Given the description of an element on the screen output the (x, y) to click on. 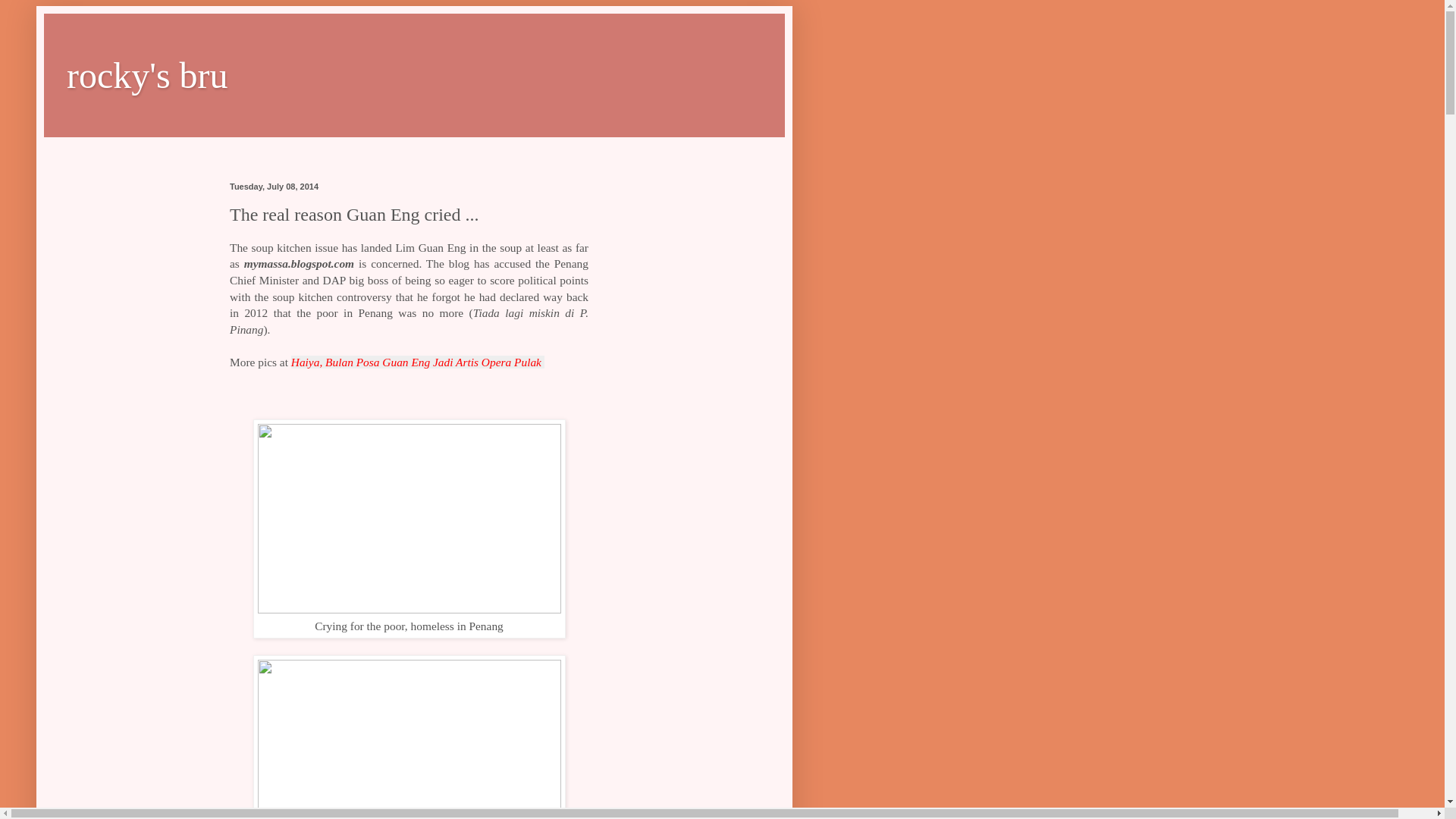
rocky's bru (147, 75)
Haiya, Bulan Posa Guan Eng Jadi Artis Opera Pulak (417, 361)
